Given the description of an element on the screen output the (x, y) to click on. 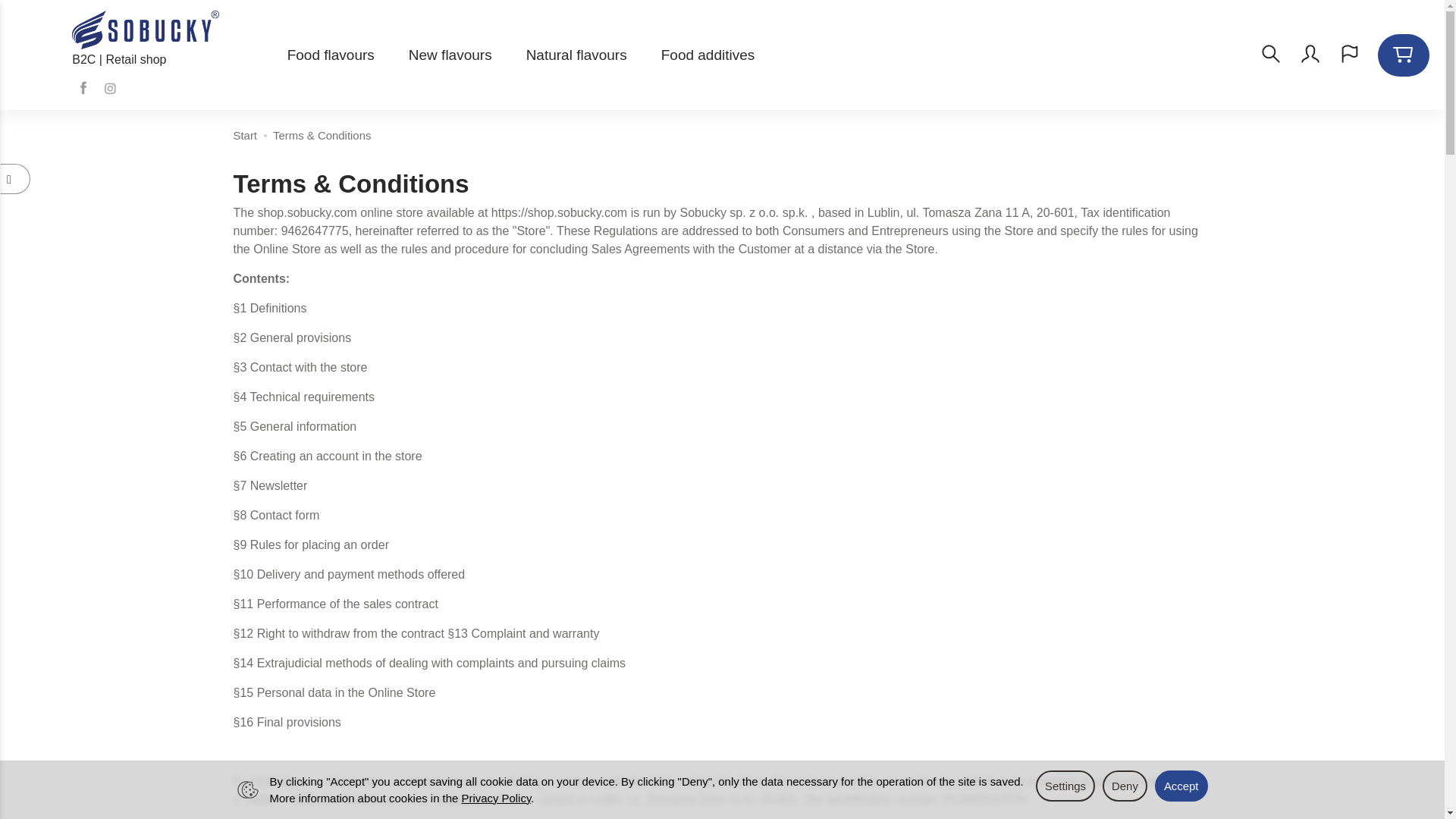
Search (1270, 52)
New flavours (450, 54)
Food additives (708, 54)
Start (244, 134)
Natural flavours (576, 54)
My account (1310, 52)
Language and currency (1349, 52)
Shopping cart (1402, 52)
Food flavours (330, 54)
